Given the description of an element on the screen output the (x, y) to click on. 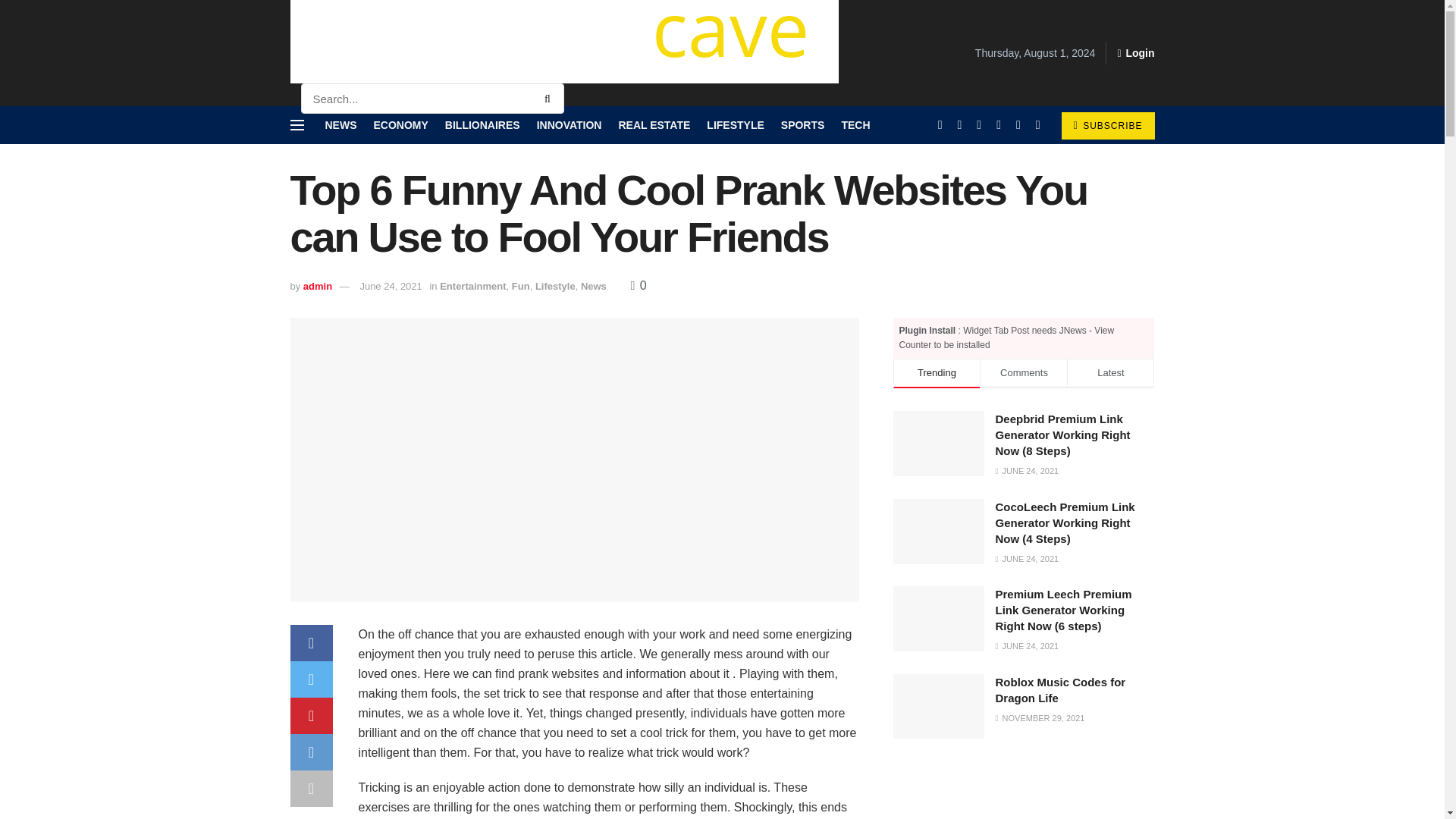
BILLIONAIRES (482, 125)
Login (1135, 53)
June 24, 2021 (390, 285)
REAL ESTATE (653, 125)
ECONOMY (400, 125)
Lifestyle (555, 285)
SPORTS (802, 125)
SUBSCRIBE (1107, 125)
admin (316, 285)
Entertainment (472, 285)
Fun (520, 285)
LIFESTYLE (734, 125)
INNOVATION (569, 125)
